Given the description of an element on the screen output the (x, y) to click on. 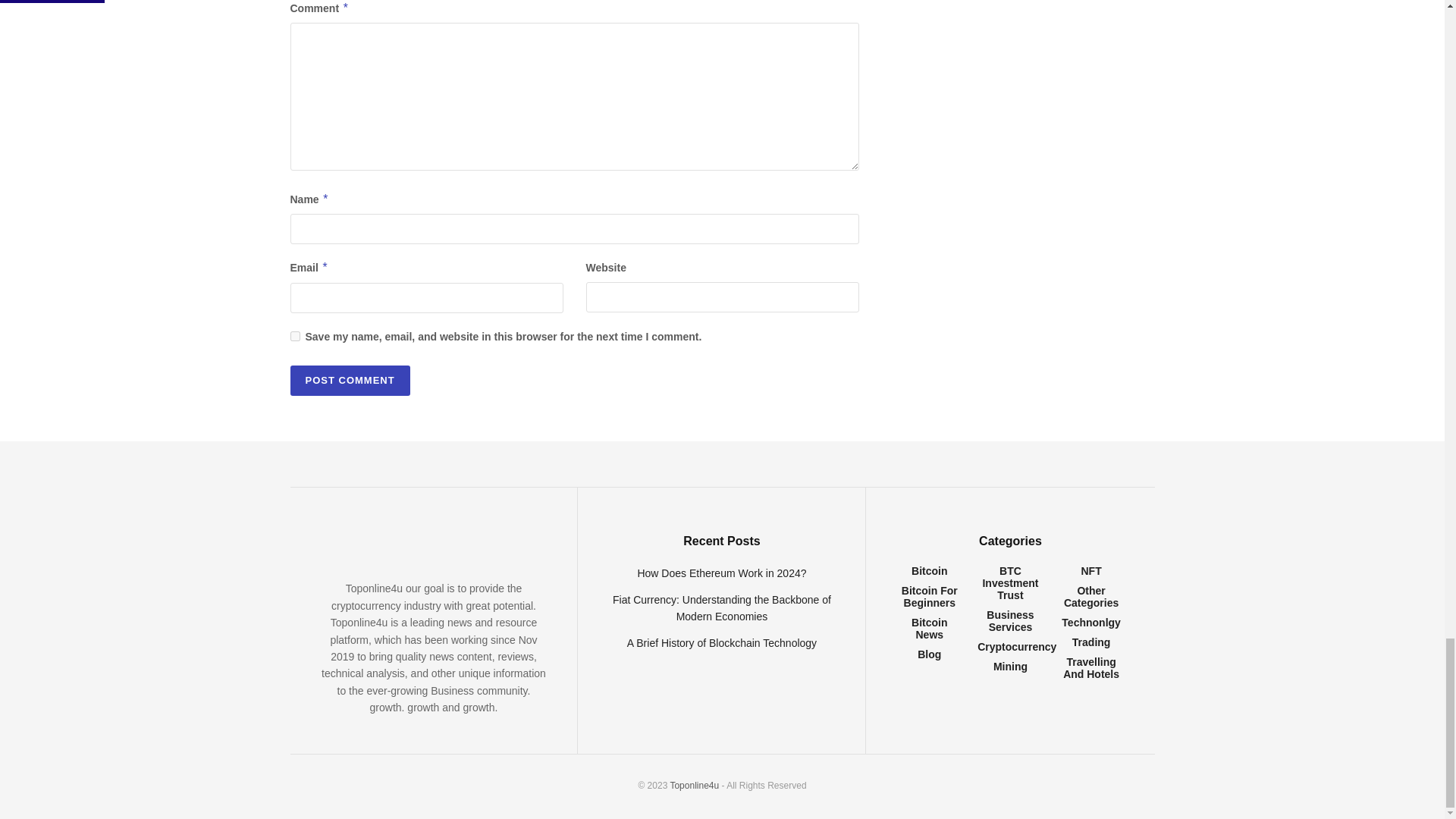
Post Comment (349, 380)
yes (294, 336)
All Rights Reserved (694, 785)
